Given the description of an element on the screen output the (x, y) to click on. 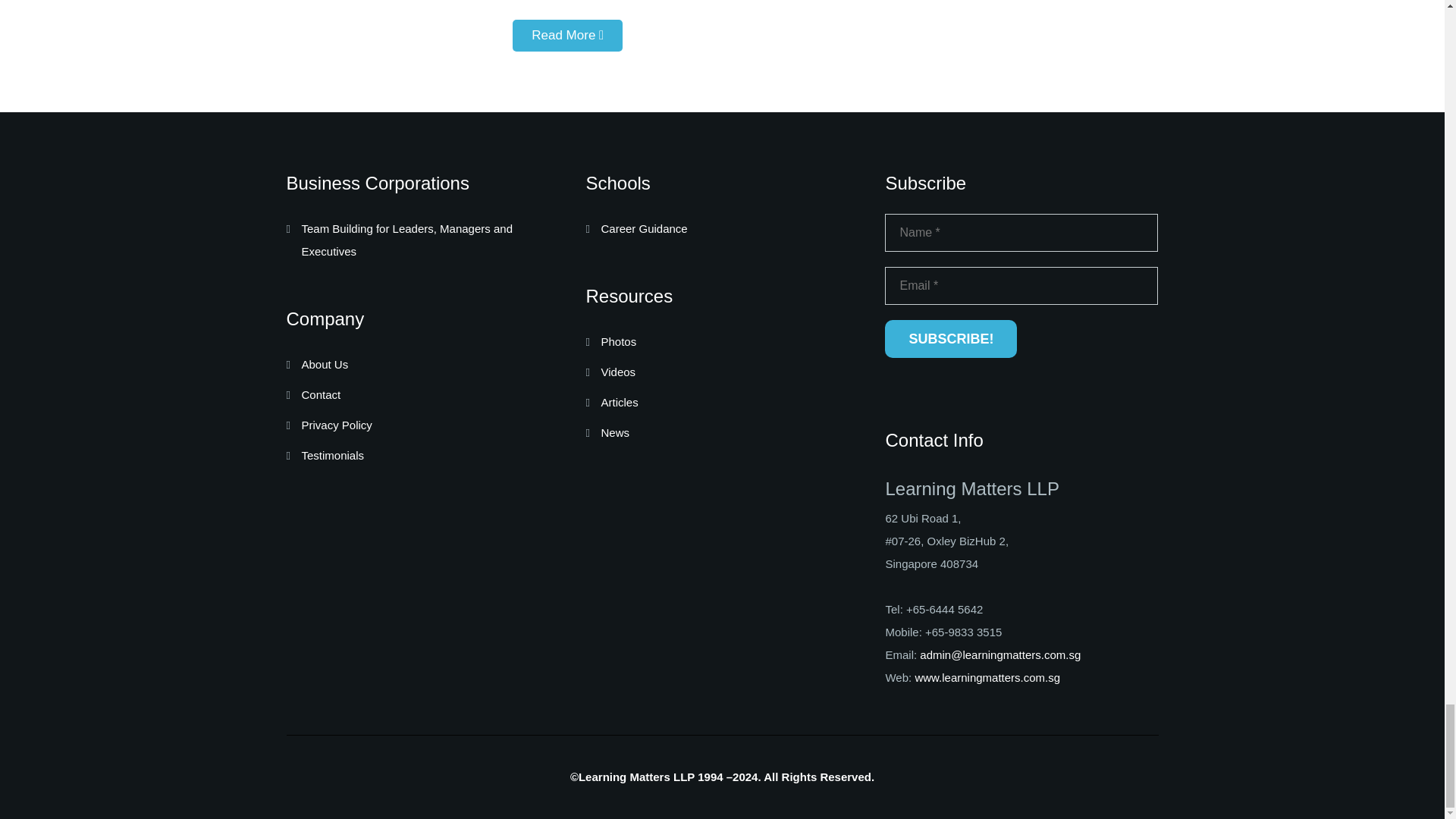
Subscribe! (950, 338)
Name (1021, 232)
Email (1021, 285)
